Given the description of an element on the screen output the (x, y) to click on. 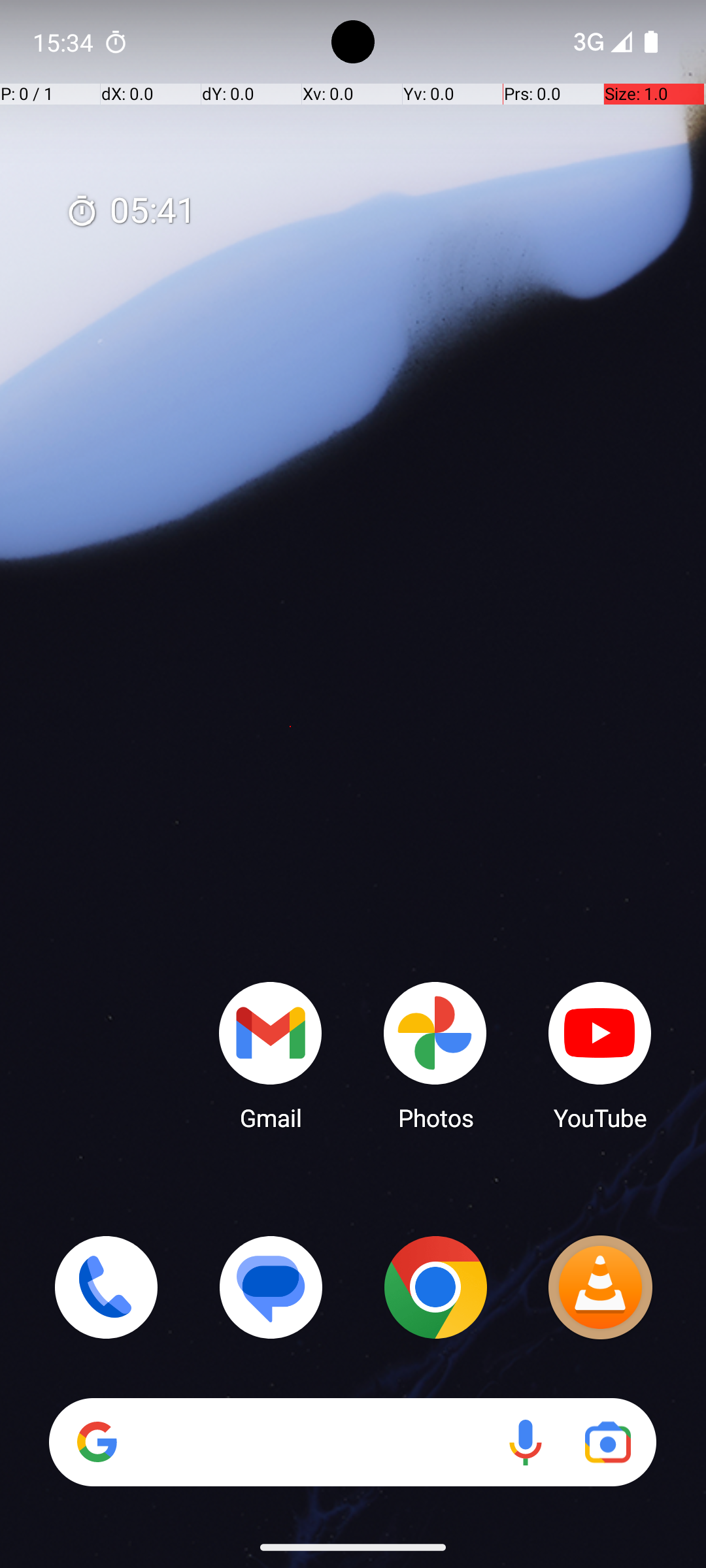
05:41 Element type: android.widget.TextView (130, 210)
